Given the description of an element on the screen output the (x, y) to click on. 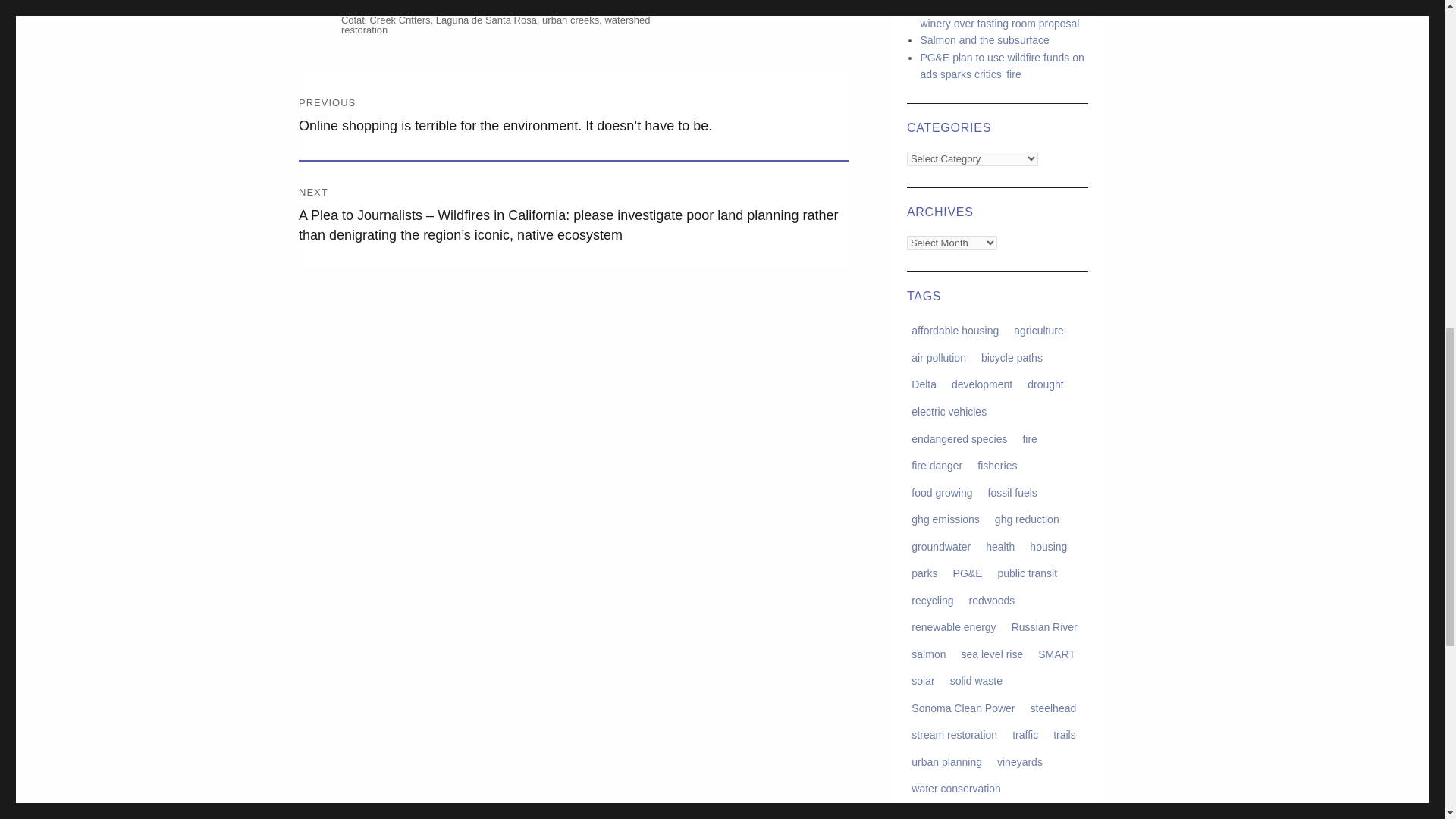
Wildlife (388, 5)
agriculture (1038, 330)
drought (1045, 383)
Delta (924, 383)
Cotati Creek Critters (385, 19)
affordable housing (955, 330)
air pollution (939, 356)
watershed restoration (495, 25)
bicycle paths (1012, 356)
